Given the description of an element on the screen output the (x, y) to click on. 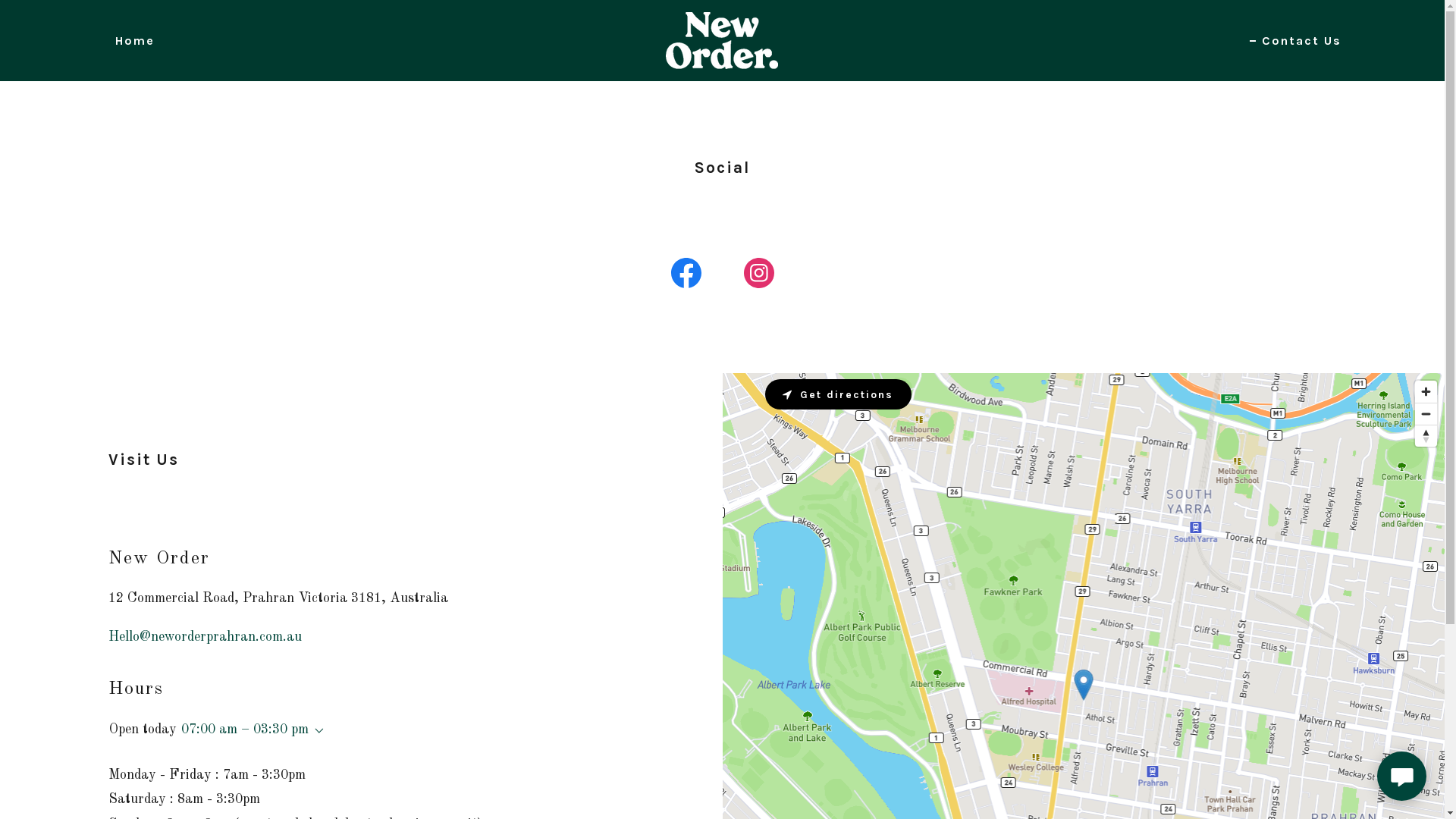
New Order Prahran Element type: hover (721, 40)
Reset bearing to north Element type: hover (1426, 435)
Get directions Element type: text (837, 394)
Hello@neworderprahran.com.au Element type: text (204, 636)
Zoom in Element type: hover (1426, 391)
Contact Us Element type: text (1295, 40)
Zoom out Element type: hover (1426, 413)
Home Element type: text (128, 40)
